Given the description of an element on the screen output the (x, y) to click on. 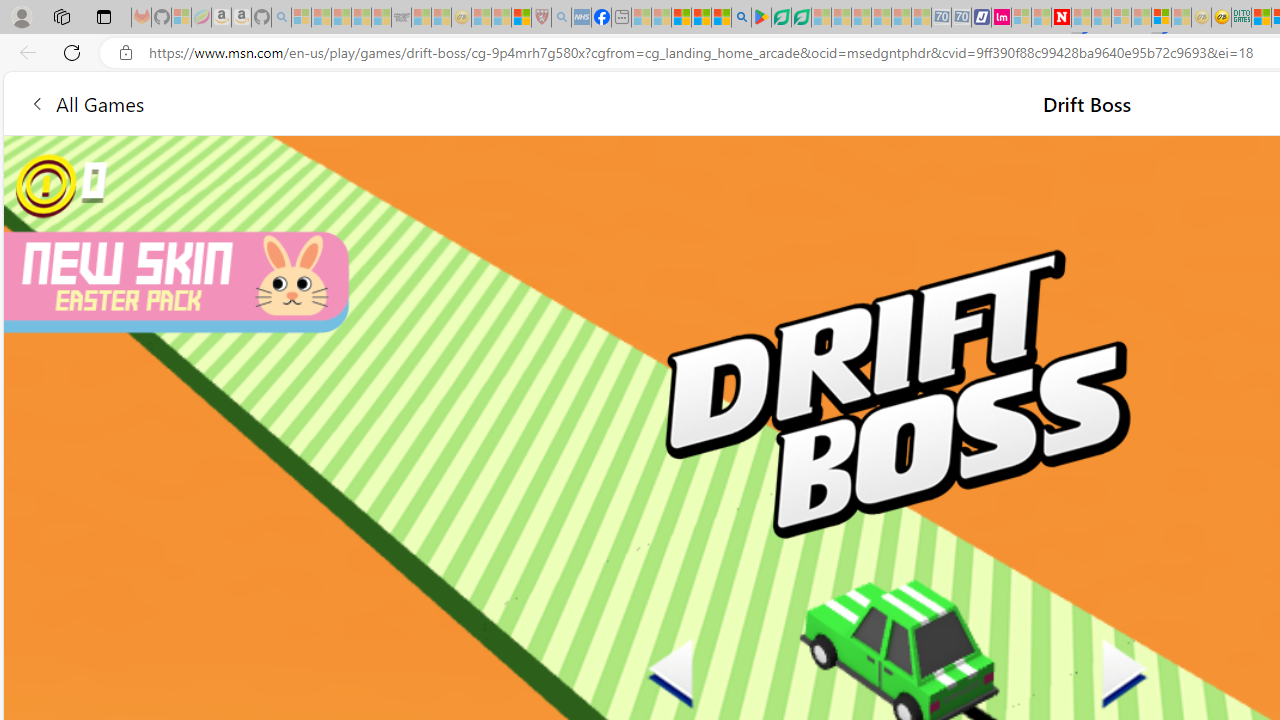
View site information (125, 53)
google - Search (741, 17)
Back (24, 52)
Microsoft Start (681, 17)
Refresh (72, 52)
Trusted Community Engagement and Contributions | Guidelines (1080, 17)
Tab actions menu (104, 16)
Personal Profile (21, 16)
Microsoft account | Privacy - Sleeping (1021, 17)
All Games (380, 102)
New Report Confirms 2023 Was Record Hot | Watch - Sleeping (381, 17)
